Given the description of an element on the screen output the (x, y) to click on. 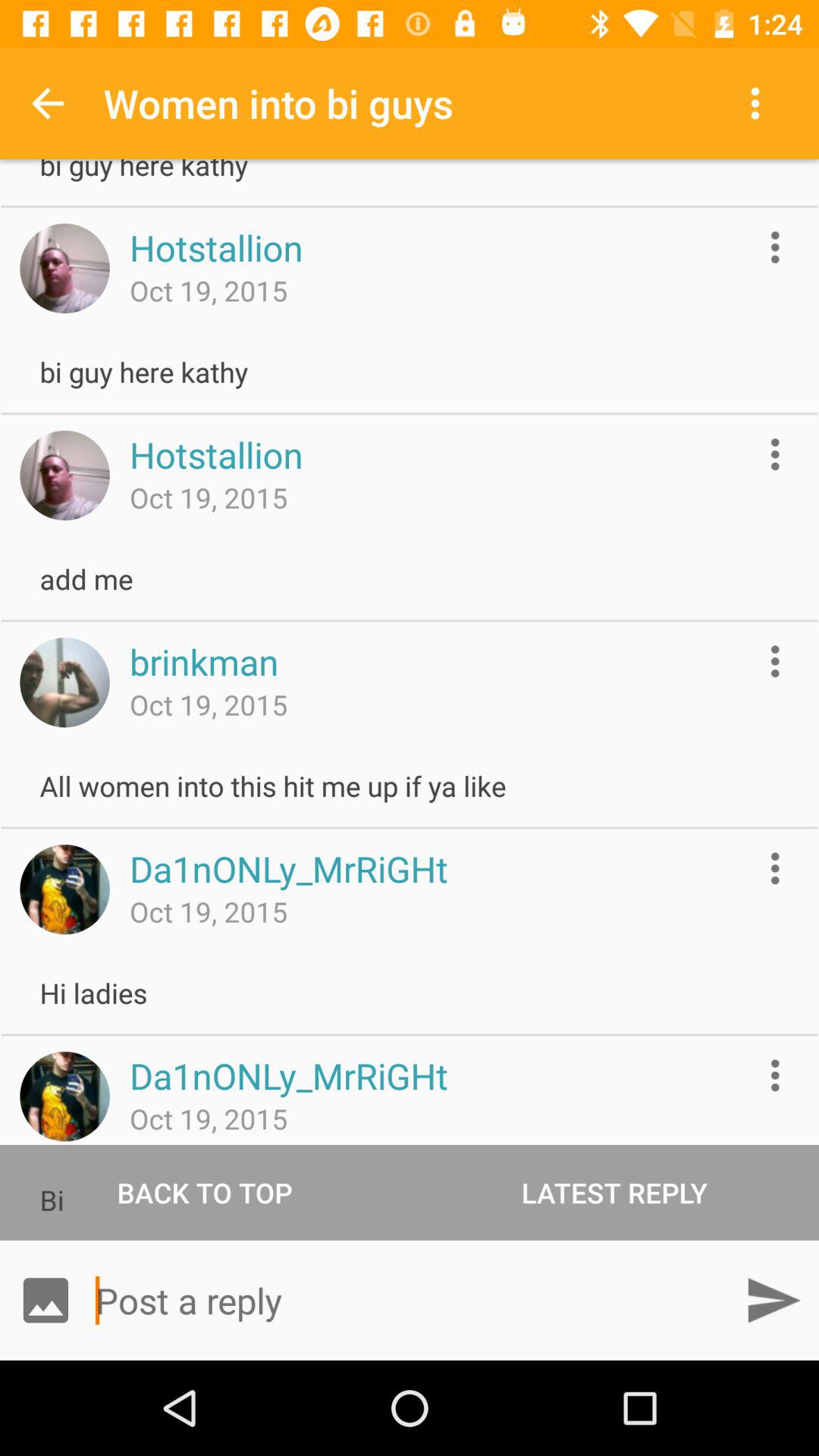
contact photo (64, 475)
